Given the description of an element on the screen output the (x, y) to click on. 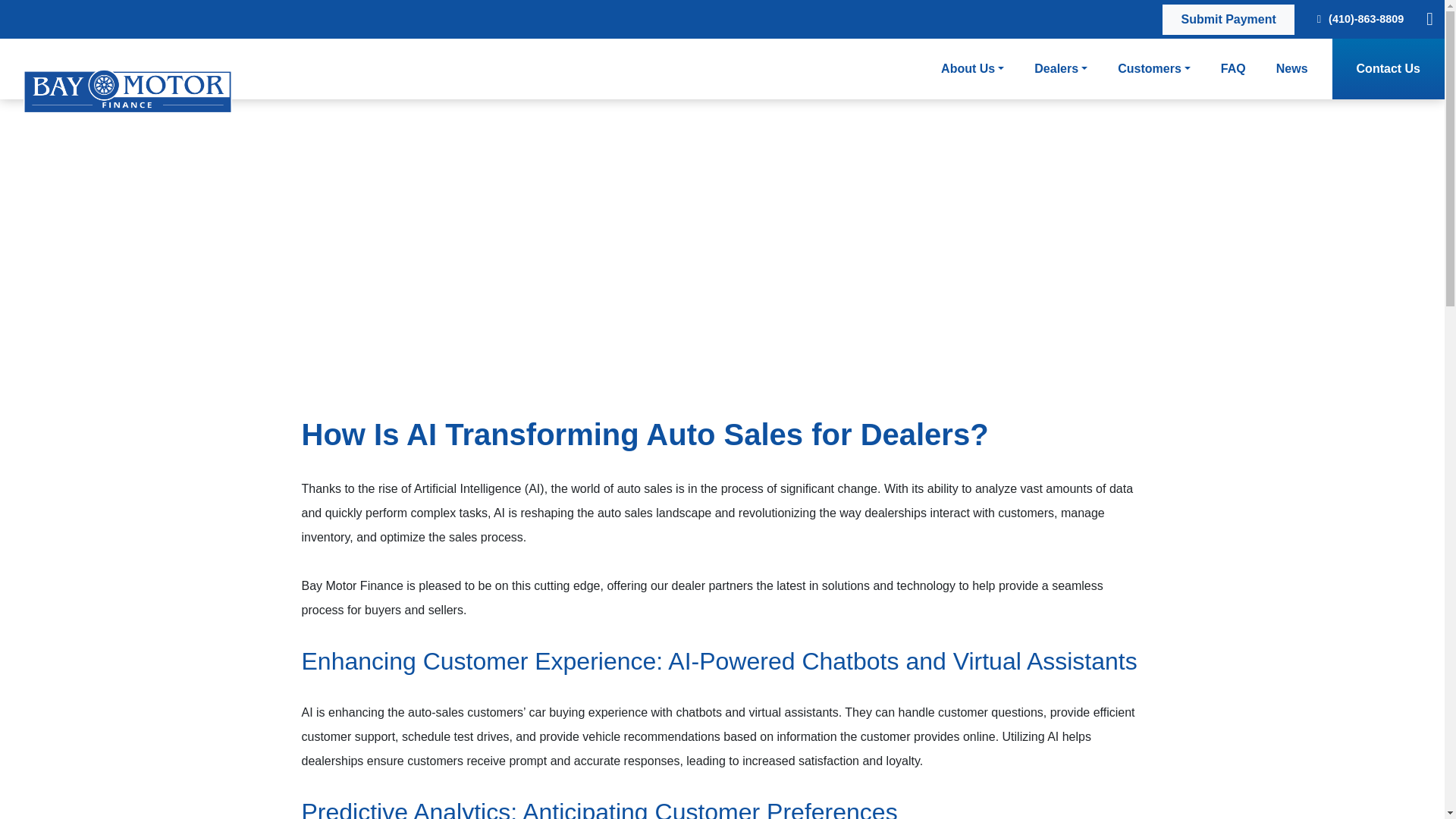
Submit Payment (1227, 19)
News (1291, 68)
Customers (1154, 68)
News (1291, 68)
Customers (1154, 68)
Dealers (1060, 68)
Dealers (1060, 68)
Open in a new window (1227, 19)
FAQ (1233, 68)
About Us (972, 68)
